Given the description of an element on the screen output the (x, y) to click on. 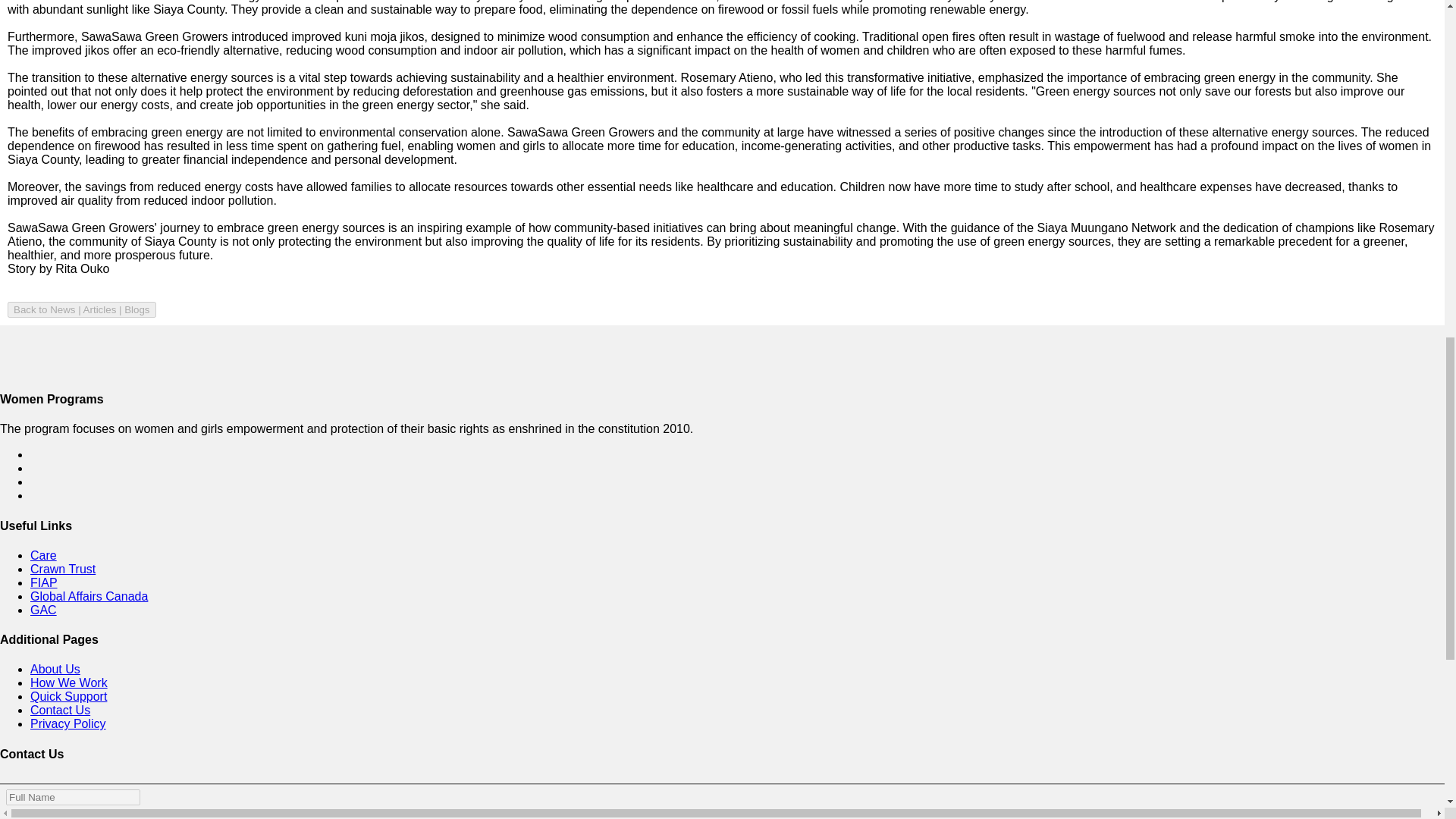
Contact Us (60, 709)
Privacy Policy (68, 723)
Global Affairs Canada (89, 595)
About Us (55, 668)
Quick Support (68, 696)
FIAP (44, 582)
How We Work (68, 682)
Crawn Trust (63, 568)
GAC (43, 609)
Care (43, 554)
